Given the description of an element on the screen output the (x, y) to click on. 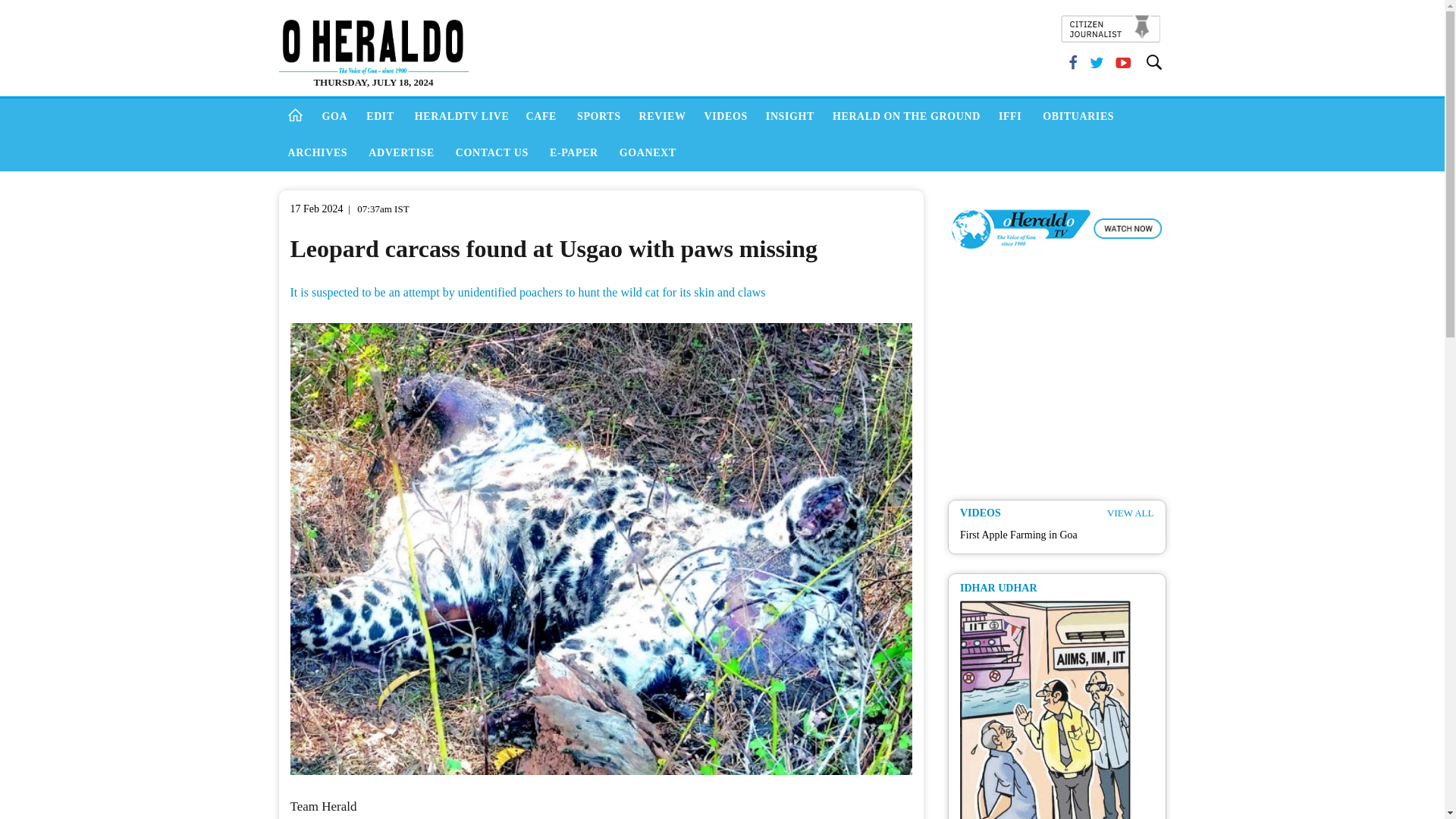
Advertisement (767, 41)
Advertisement (1060, 380)
